Given the description of an element on the screen output the (x, y) to click on. 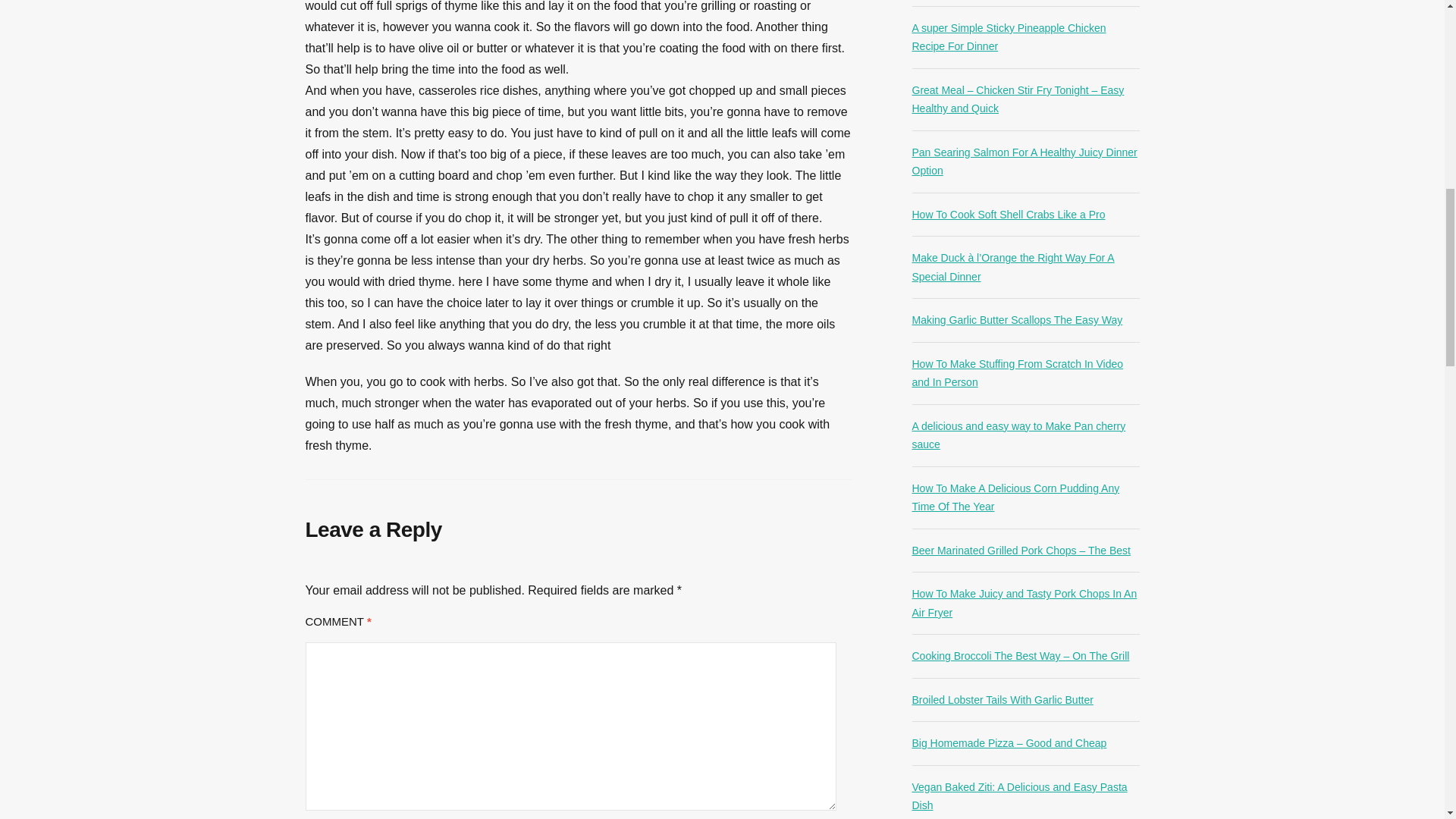
A delicious and easy way to Make Pan cherry sauce (1018, 435)
Making Garlic Butter Scallops The Easy Way (1016, 319)
How To Make Stuffing From Scratch In Video and In Person (1016, 373)
How To Make A Delicious Corn Pudding Any Time Of The Year (1015, 497)
Pan Searing Salmon For A Healthy Juicy Dinner Option (1024, 161)
How To Cook Soft Shell Crabs Like a Pro (1008, 214)
How To Make Juicy and Tasty Pork Chops In An Air Fryer (1024, 603)
Broiled Lobster Tails With Garlic Butter (1002, 699)
A super Simple Sticky Pineapple Chicken Recipe For Dinner (1008, 37)
Vegan Baked Ziti: A Delicious and Easy Pasta Dish (1018, 796)
